Given the description of an element on the screen output the (x, y) to click on. 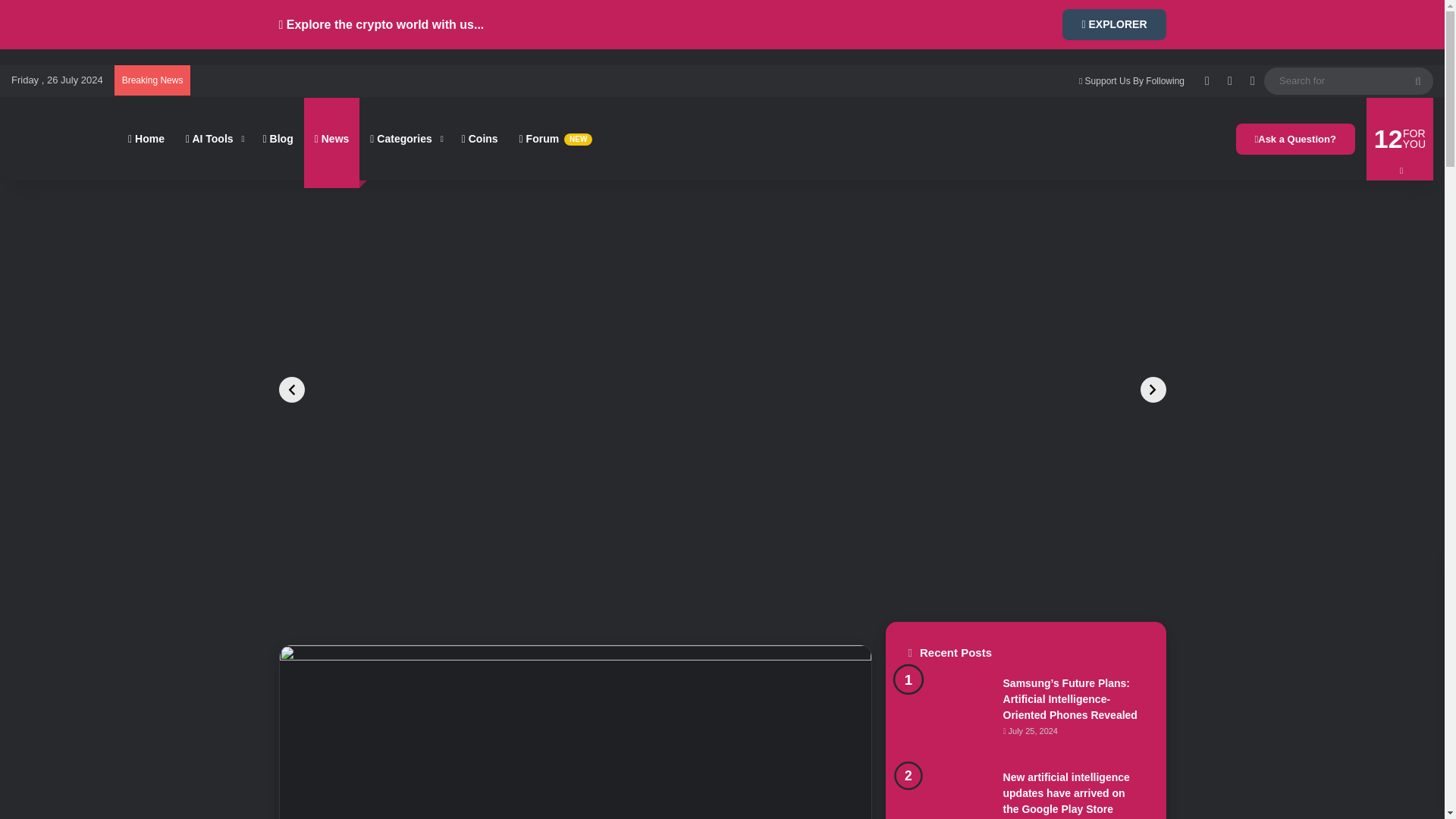
Search for (1417, 81)
Support Us By Following (1131, 81)
Random Article (1206, 81)
Sidebar (1229, 81)
Switch skin (1252, 81)
Switch skin (1252, 81)
Home (145, 138)
AI Tools (212, 138)
Search for (1347, 80)
Random Article (1206, 81)
